Given the description of an element on the screen output the (x, y) to click on. 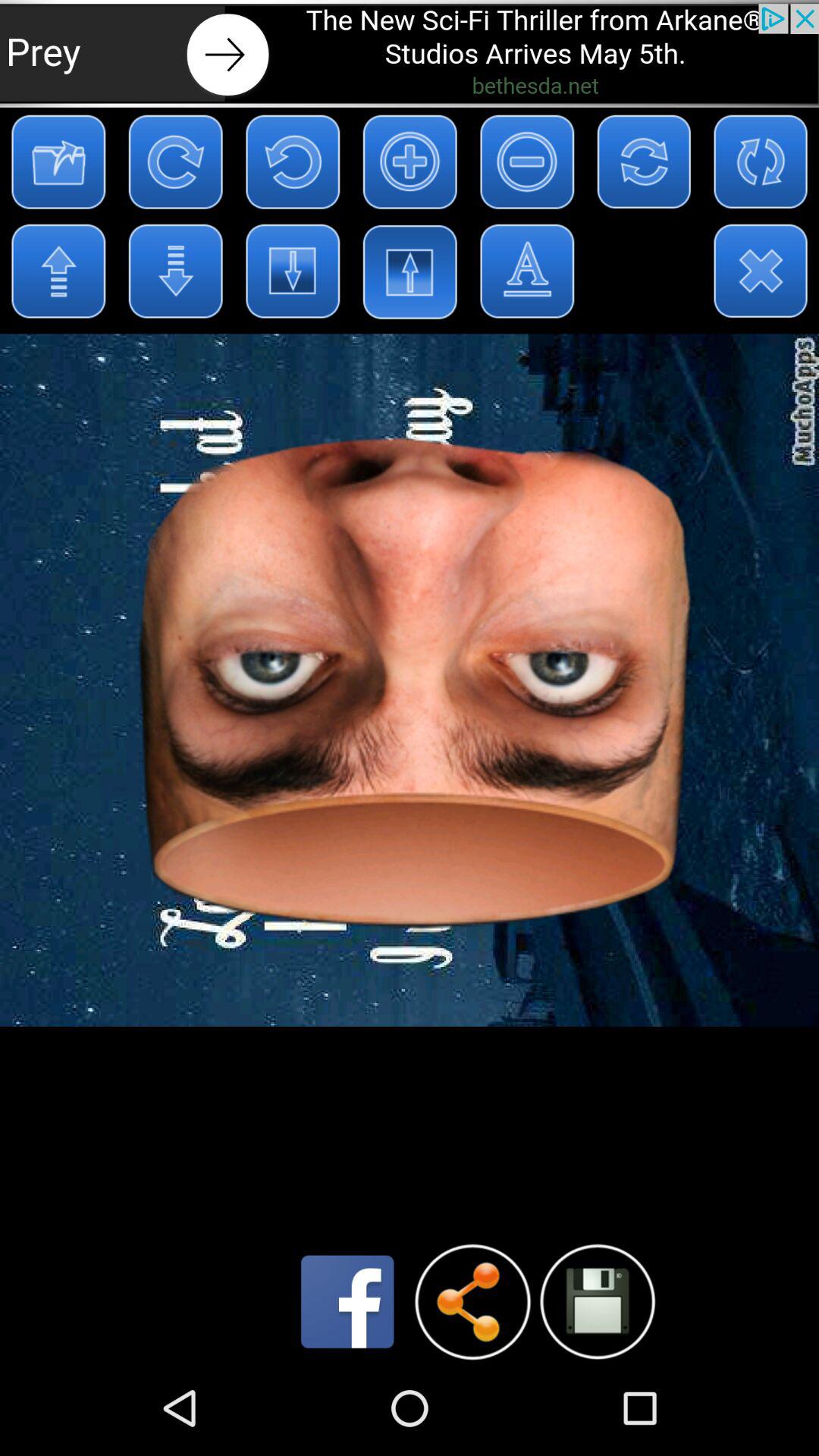
share to facebook (347, 1301)
